Given the description of an element on the screen output the (x, y) to click on. 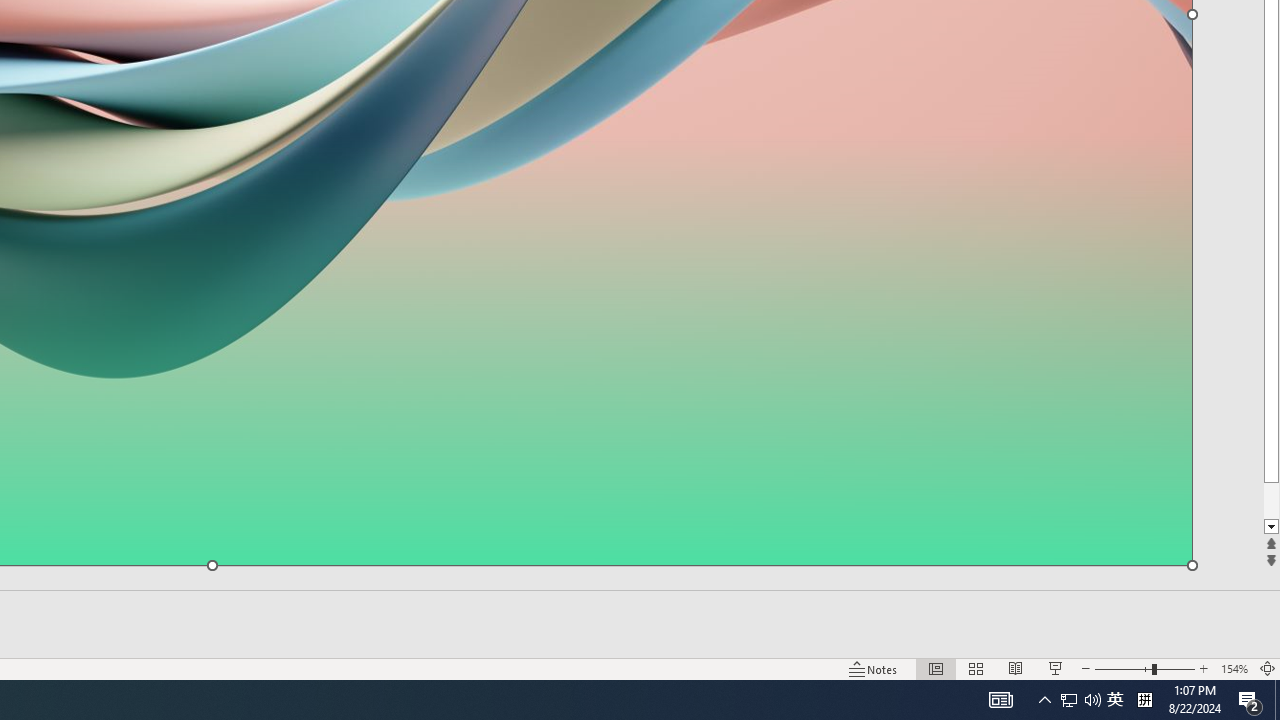
Zoom 154% (1234, 668)
